Given the description of an element on the screen output the (x, y) to click on. 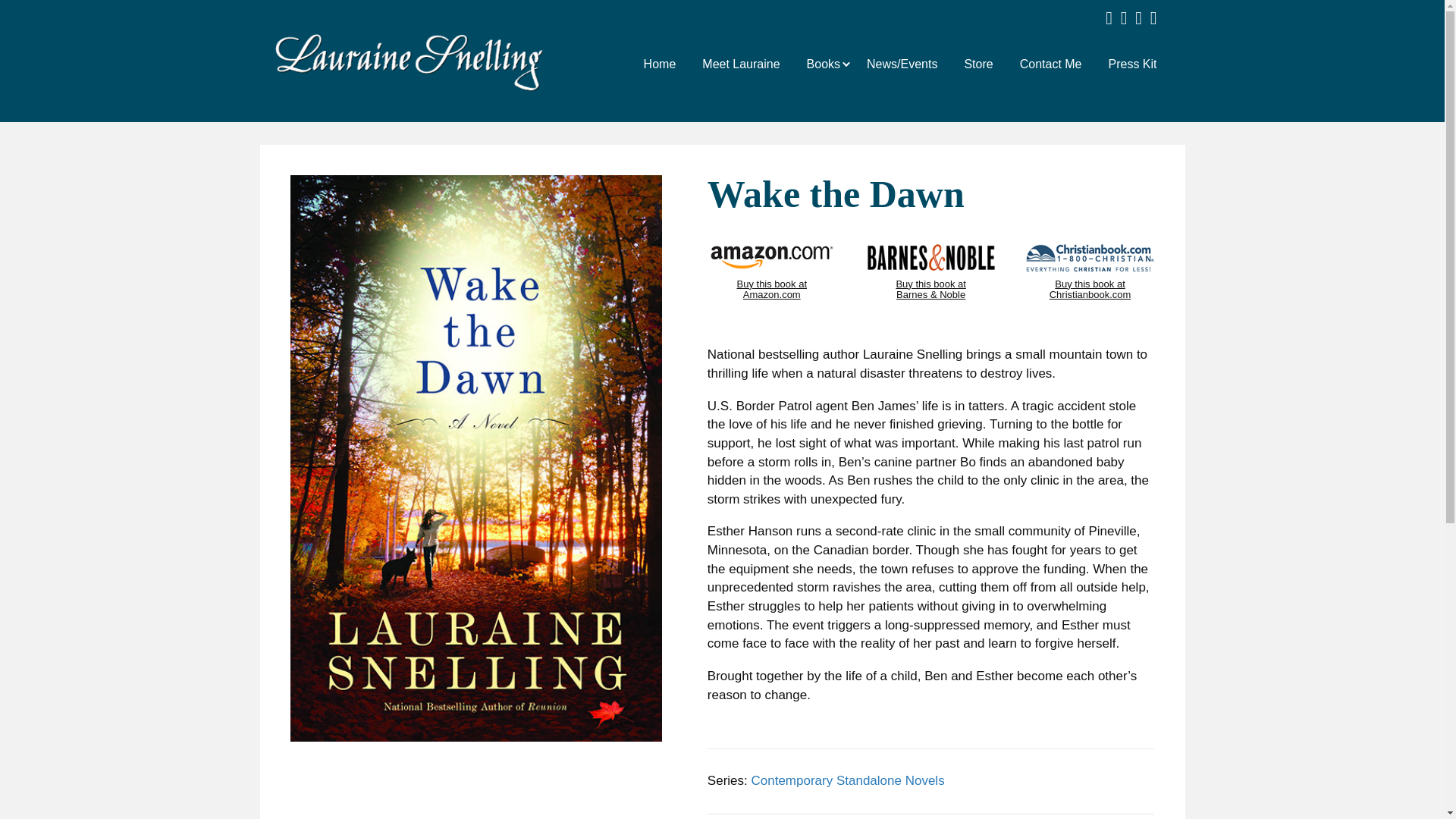
Store (977, 62)
Press Kit (1132, 62)
Contact Me (1050, 62)
Buy this book at Christianbook.com (1090, 257)
Buy this book at Amazon.com (771, 257)
Buy this book at Amazon.com (771, 304)
lauraine-sitelogo (409, 62)
Buy this book at Christianbook.com (1090, 304)
Home (660, 62)
Books (823, 62)
Contemporary Standalone Novels (847, 780)
Meet Lauraine (739, 62)
